Given the description of an element on the screen output the (x, y) to click on. 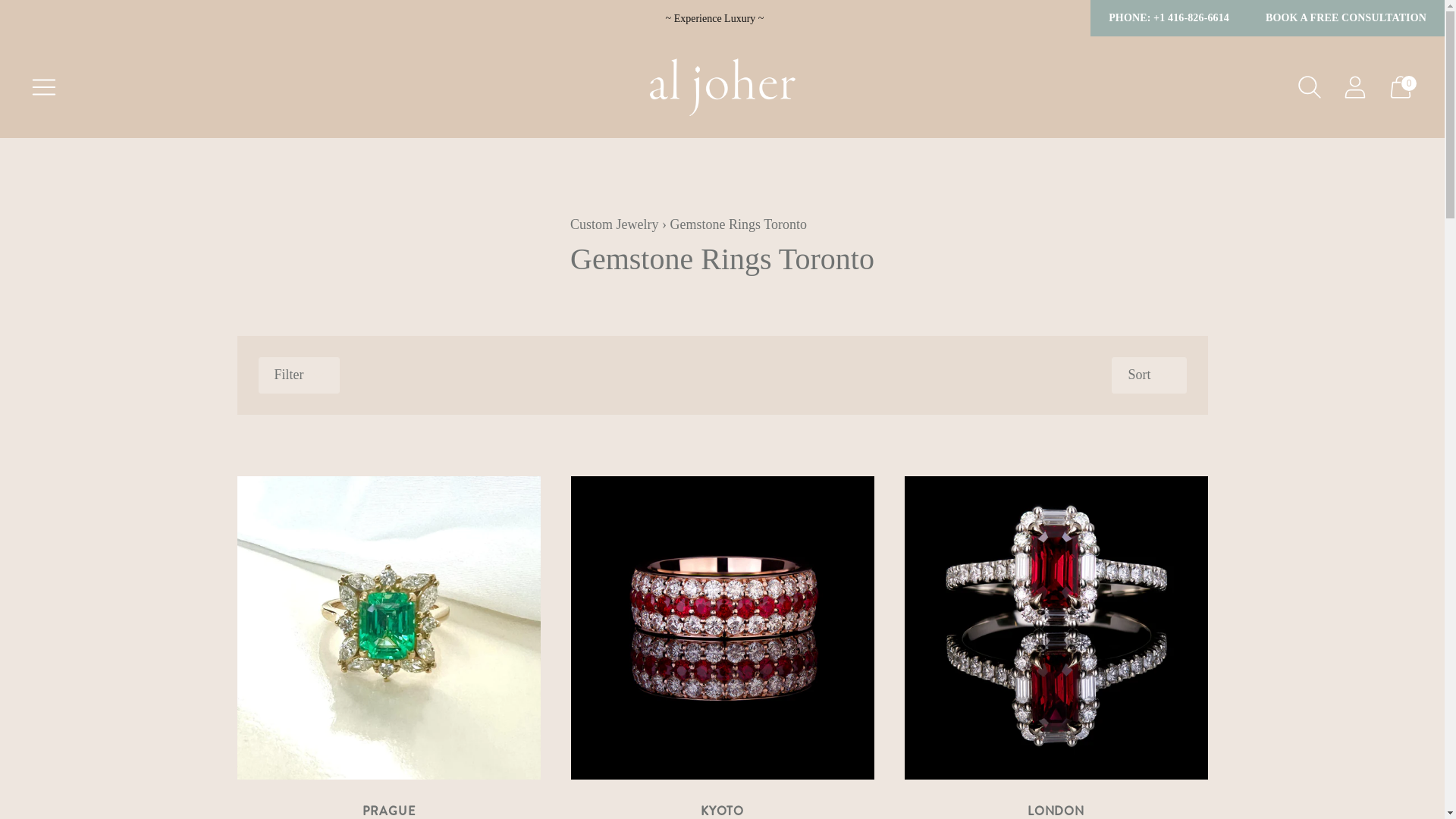
Custom Jewelry Element type: text (614, 224)
BOOK A FREE CONSULTATION Element type: text (1345, 18)
PHONE: +1 416-826-6614 Element type: text (1168, 18)
Filter Element type: text (297, 375)
Sort Element type: text (1148, 375)
0 Element type: text (1400, 86)
PHONE: +1 416-826-6614 Element type: text (1168, 18)
BOOK A FREE CONSULTATION Element type: text (1345, 18)
